Given the description of an element on the screen output the (x, y) to click on. 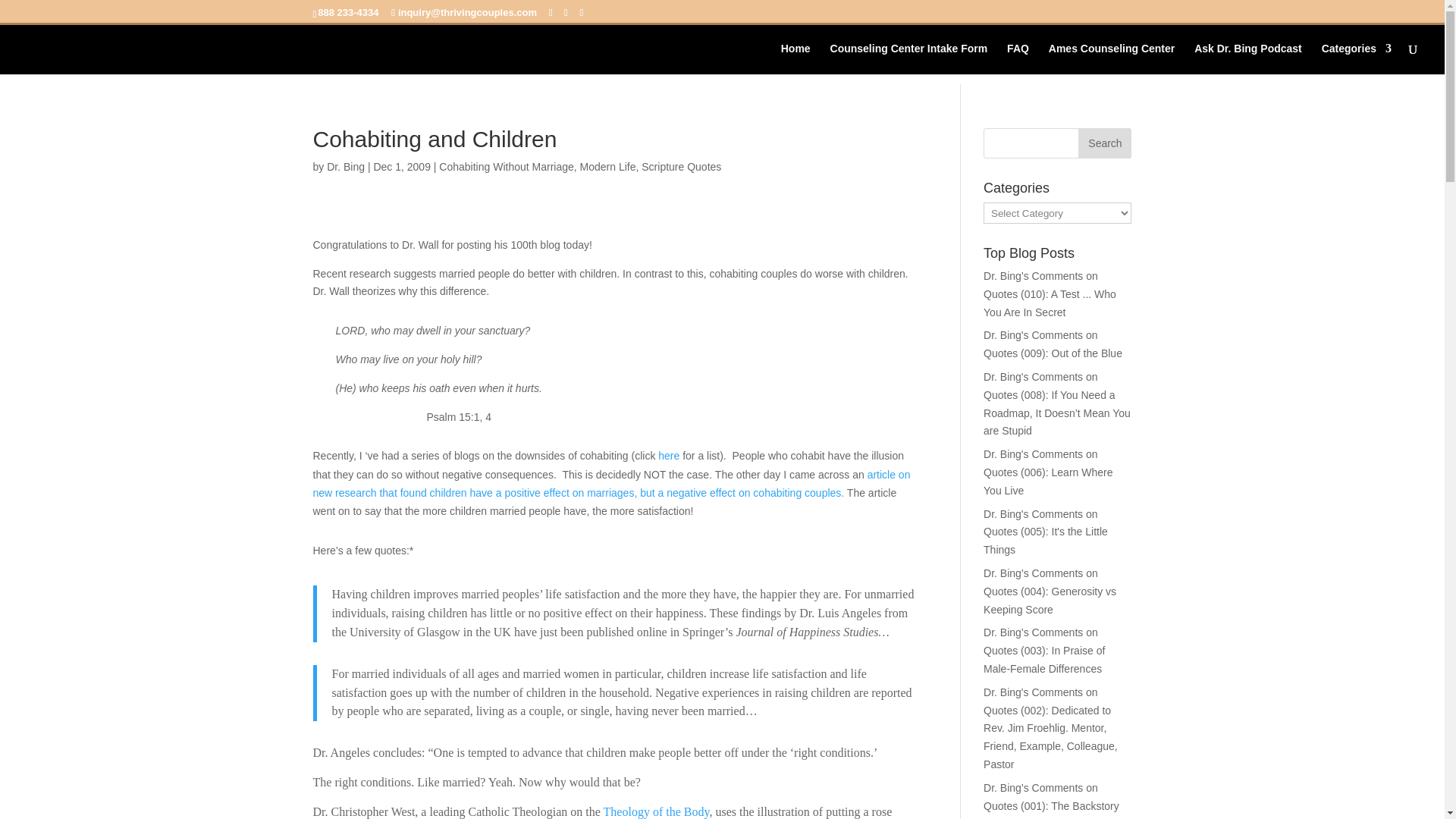
Categories (1356, 58)
Posts by Dr. Bing (345, 166)
Ames Counseling Center (1111, 58)
Ask Dr. Bing Podcast (1247, 58)
Counseling Center Intake Form (908, 58)
Search (1104, 142)
Home (795, 58)
